Given the description of an element on the screen output the (x, y) to click on. 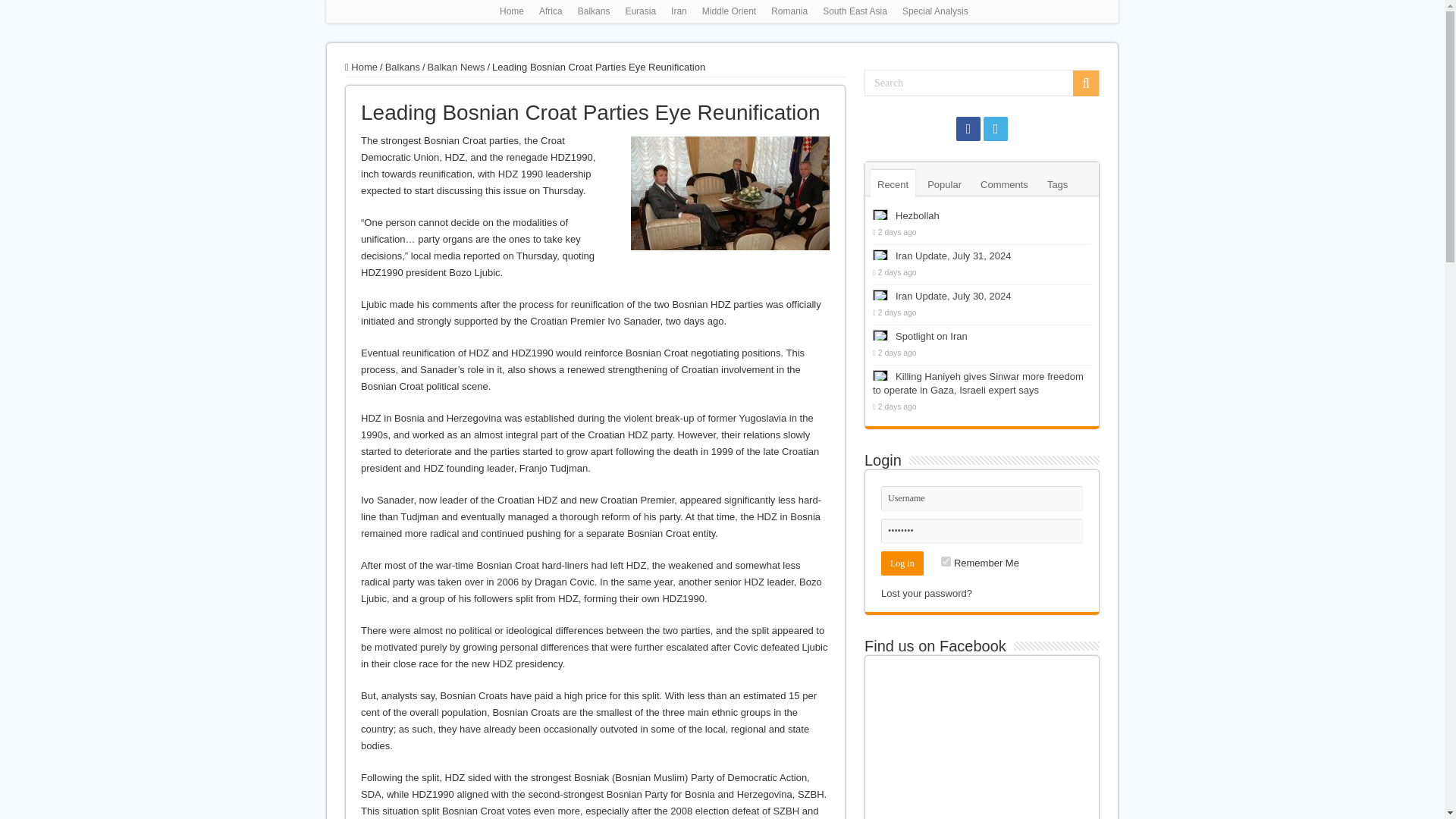
Twitter (995, 128)
South East Asia (855, 11)
Tags (1057, 183)
forever (945, 561)
Balkan News (456, 66)
Search (981, 82)
Eurasia (640, 11)
Romania (788, 11)
Password (981, 530)
Balkans (402, 66)
Africa (550, 11)
Username (981, 498)
Recent (892, 183)
Username (981, 498)
